Given the description of an element on the screen output the (x, y) to click on. 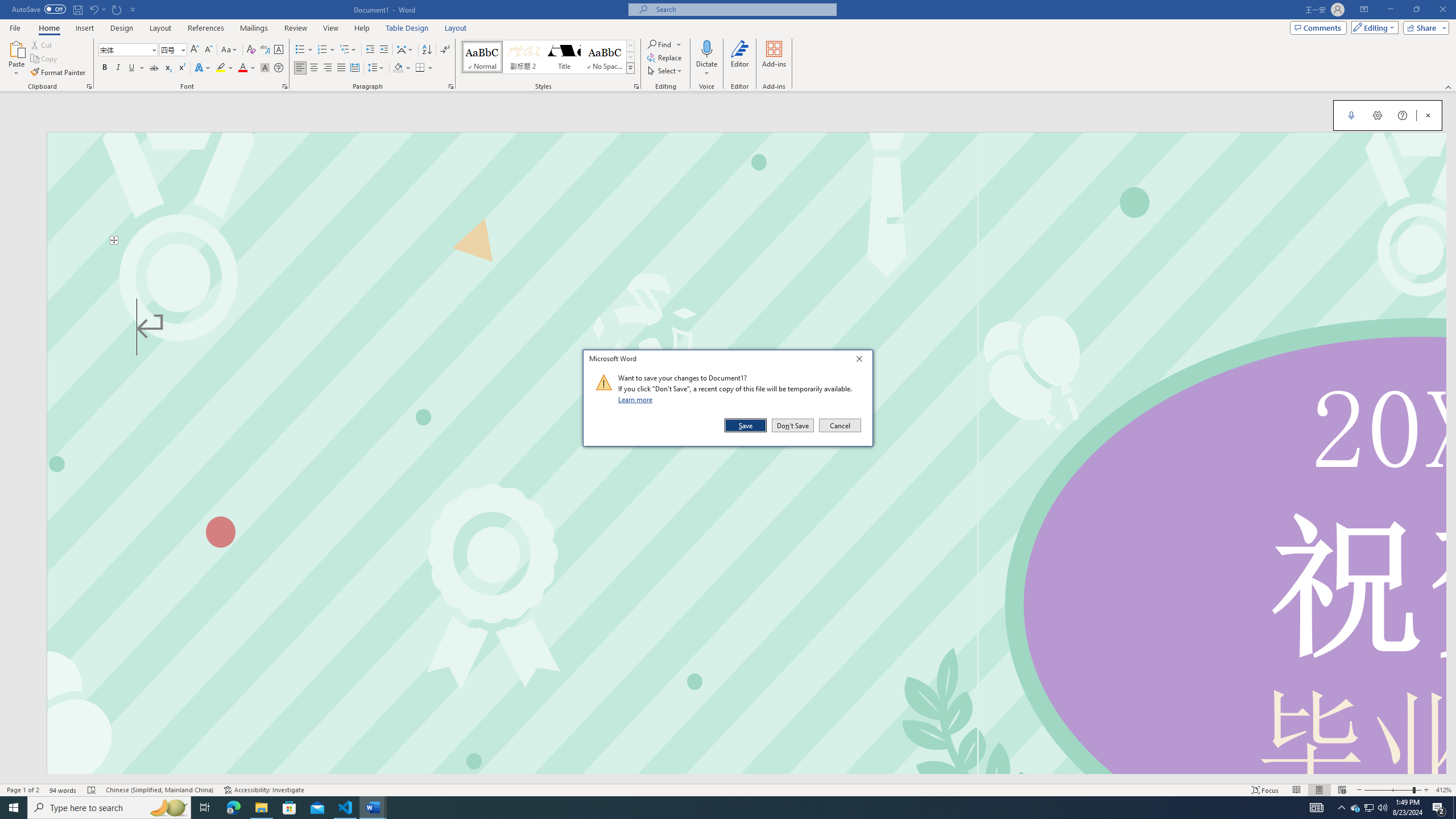
Word Count 94 words (63, 790)
